Given the description of an element on the screen output the (x, y) to click on. 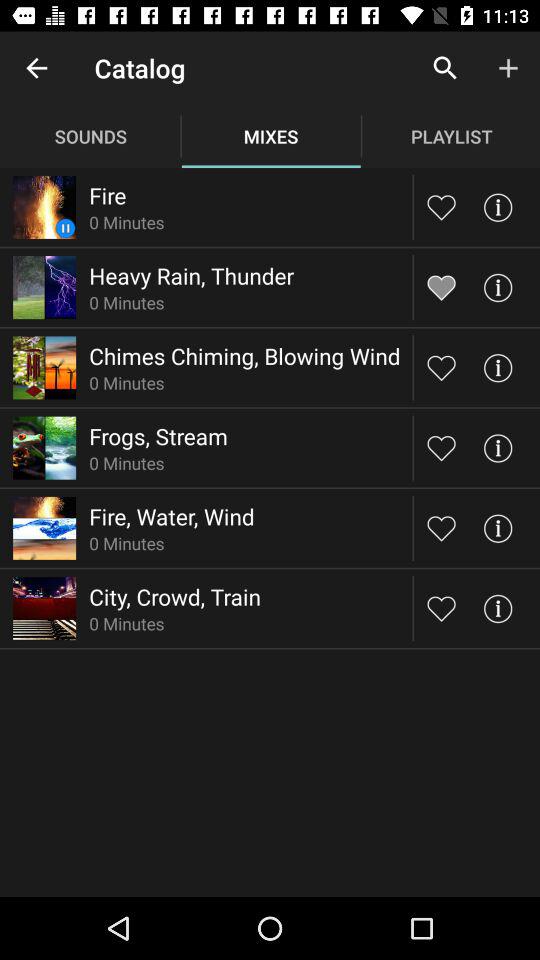
tap for information (498, 527)
